Given the description of an element on the screen output the (x, y) to click on. 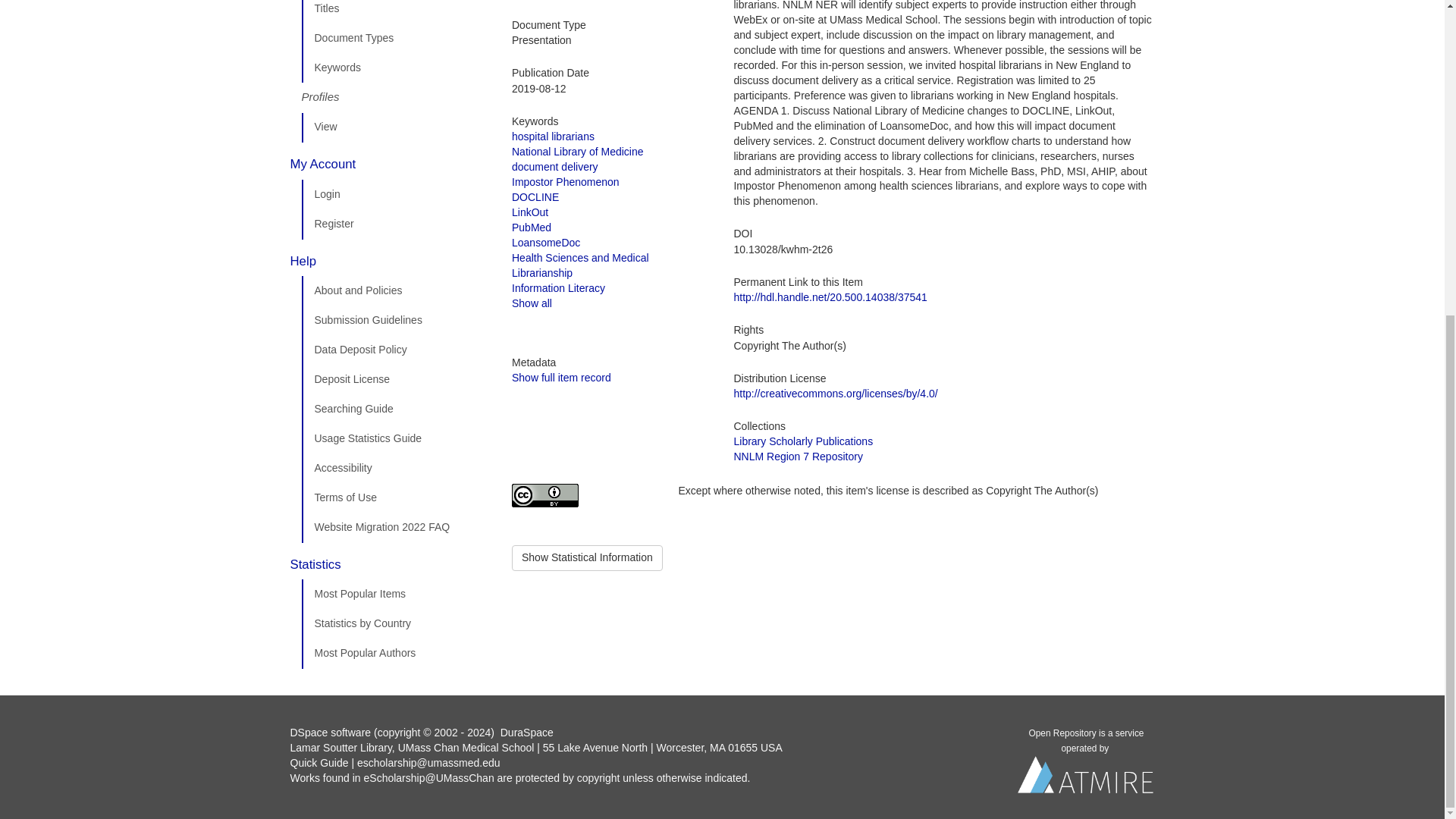
Atmire NV (1085, 779)
Keywords (395, 68)
Deposit License (395, 379)
Login (395, 194)
Submission Guidelines (395, 320)
Searching Guide (395, 409)
Document Types (395, 38)
Usage Statistics Guide (395, 439)
Profiles (395, 97)
Register (395, 224)
